Given the description of an element on the screen output the (x, y) to click on. 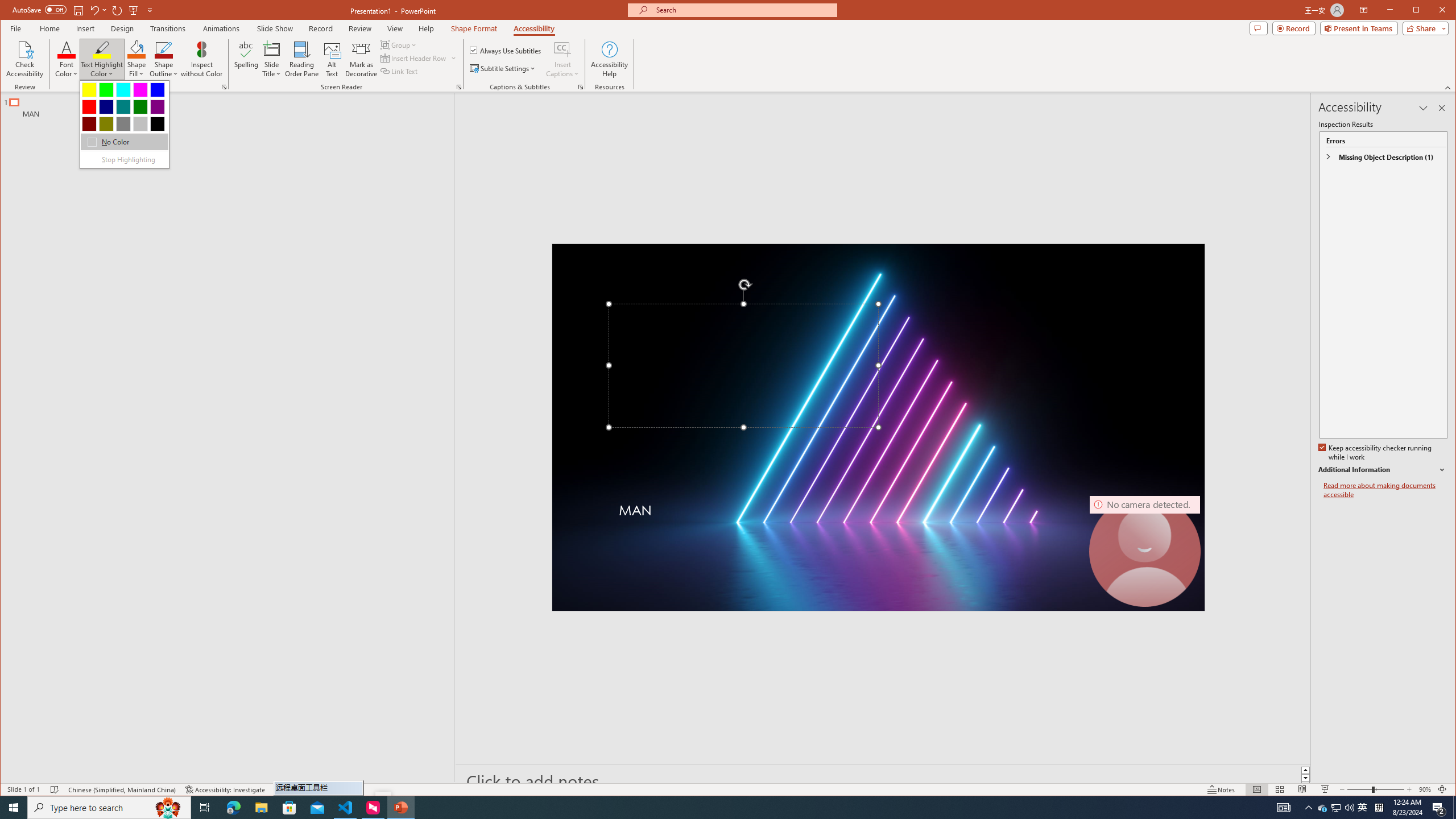
Accessibility Help (608, 59)
Read more about making documents accessible (1385, 489)
Text H&ighlight Color (124, 124)
Microsoft Edge (233, 807)
Slide Title (271, 59)
